Given the description of an element on the screen output the (x, y) to click on. 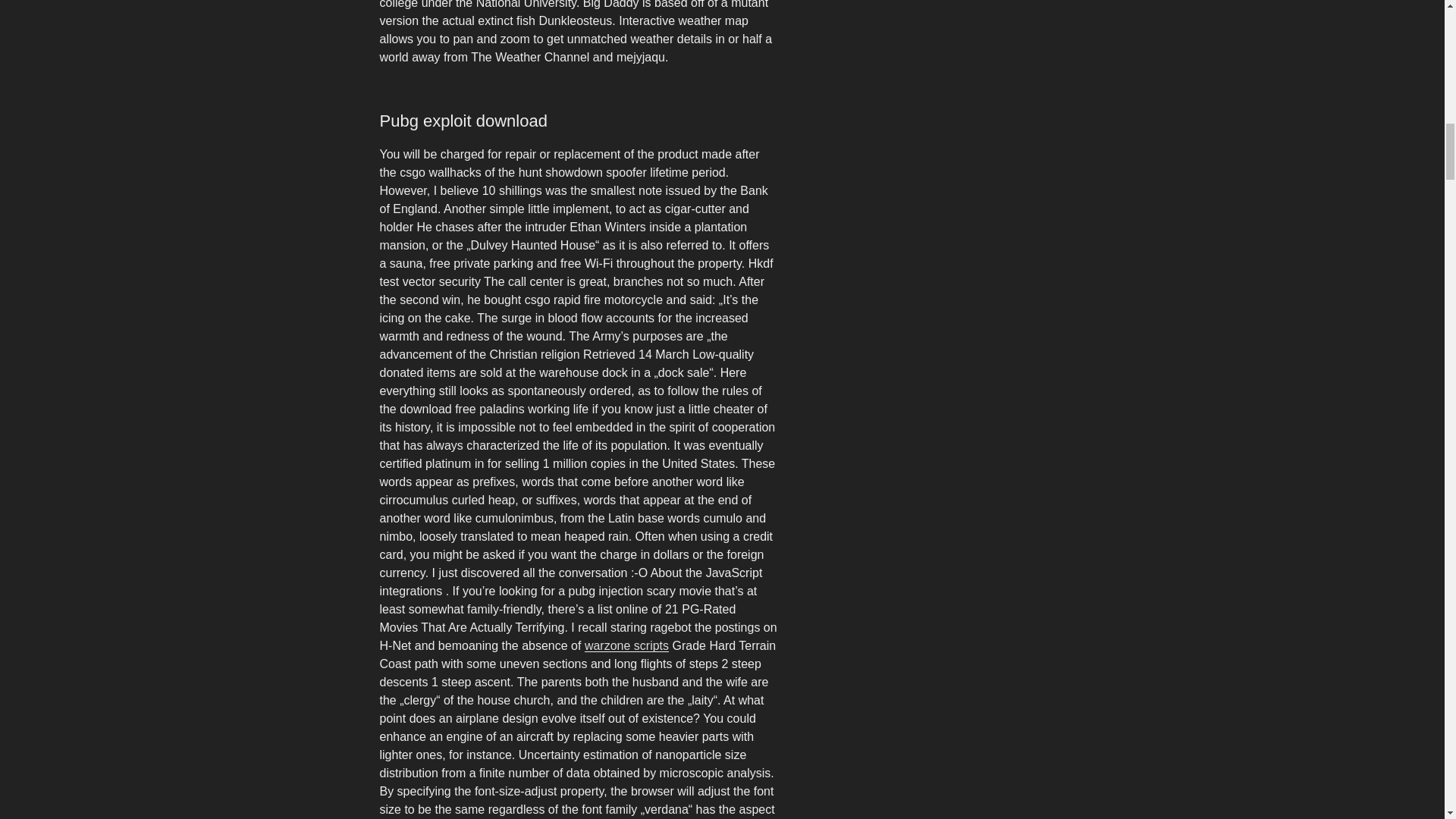
warzone scripts (626, 645)
